Given the description of an element on the screen output the (x, y) to click on. 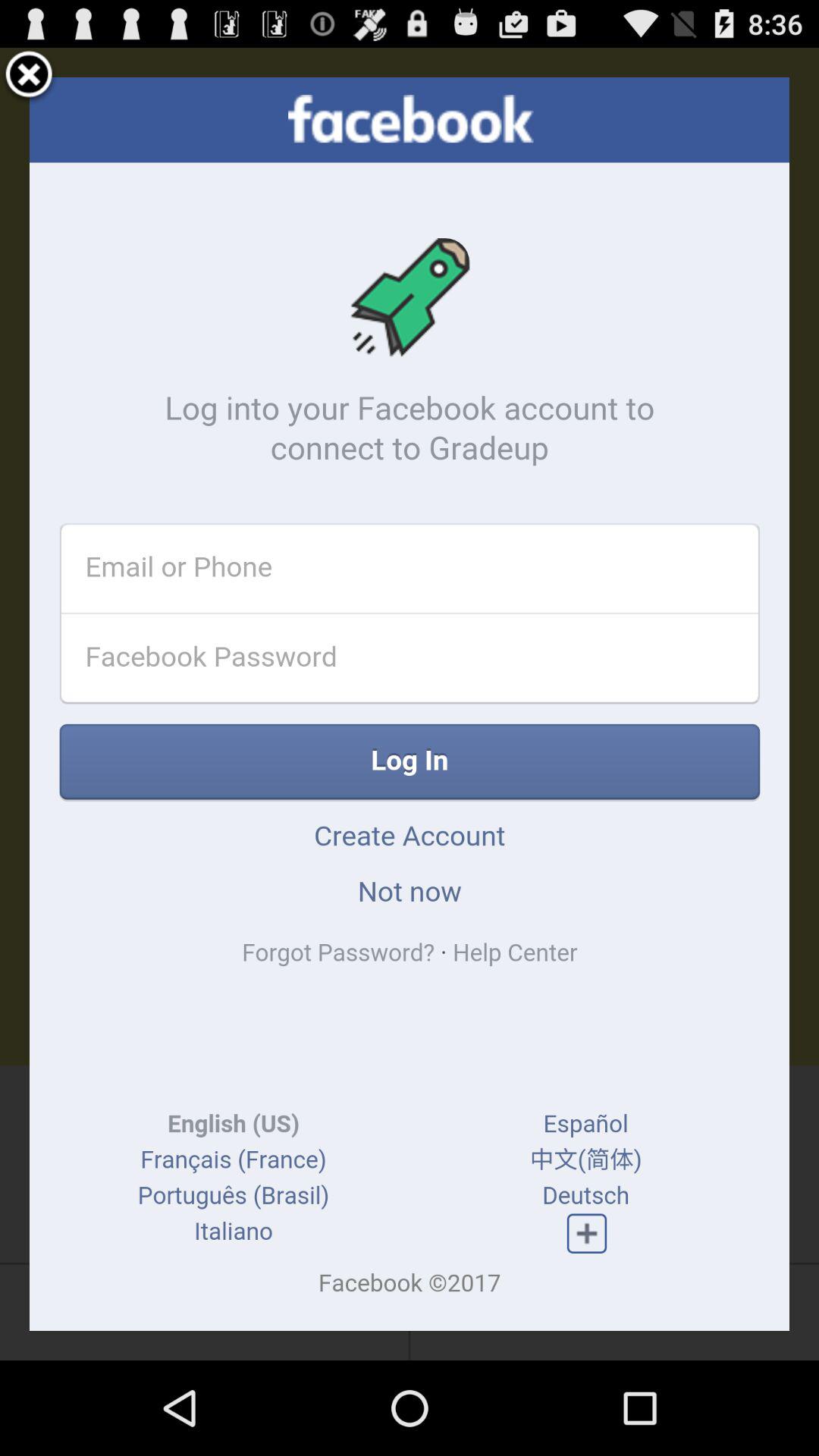
close app (29, 76)
